Given the description of an element on the screen output the (x, y) to click on. 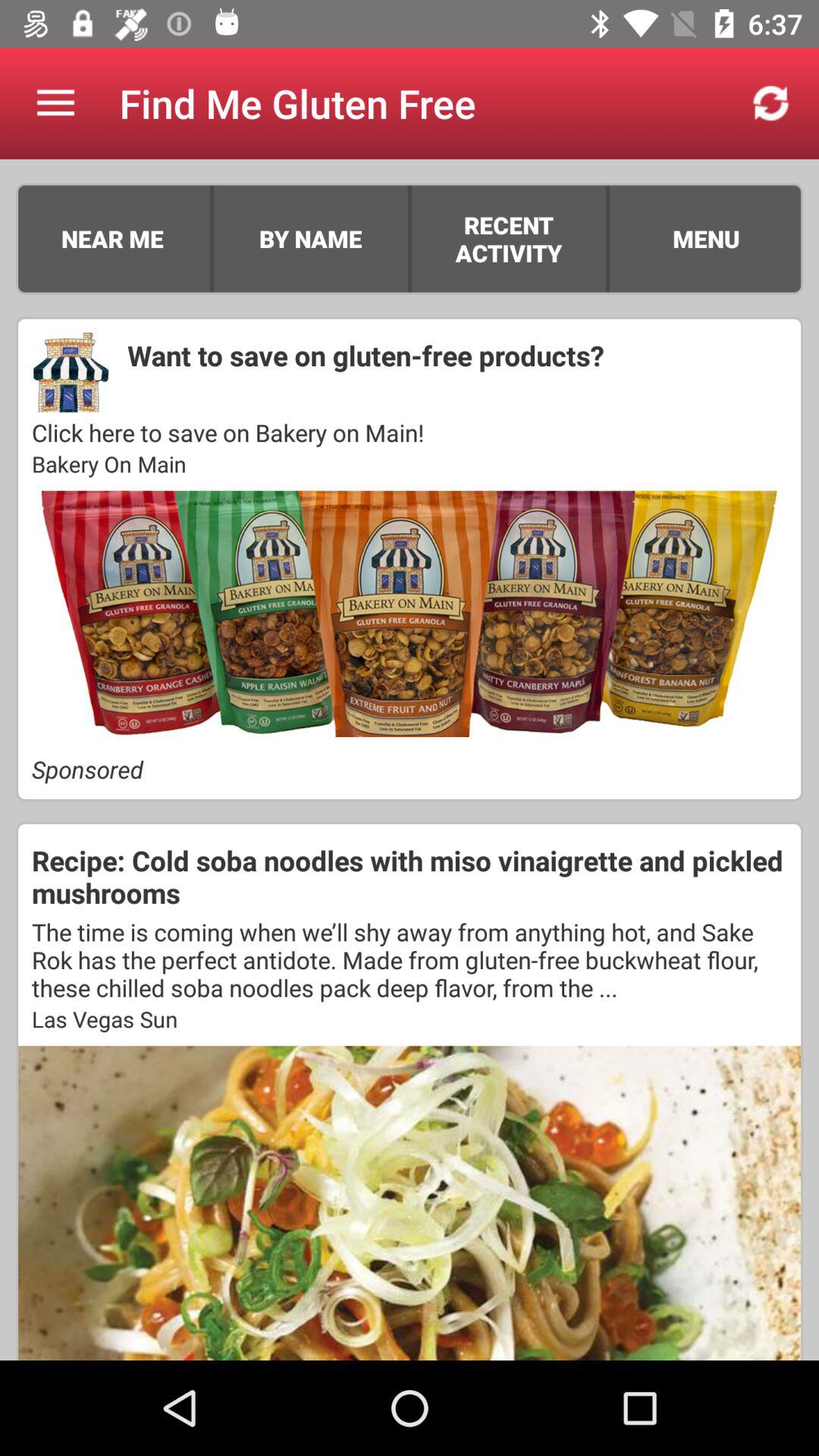
press the item above las vegas sun (409, 959)
